Given the description of an element on the screen output the (x, y) to click on. 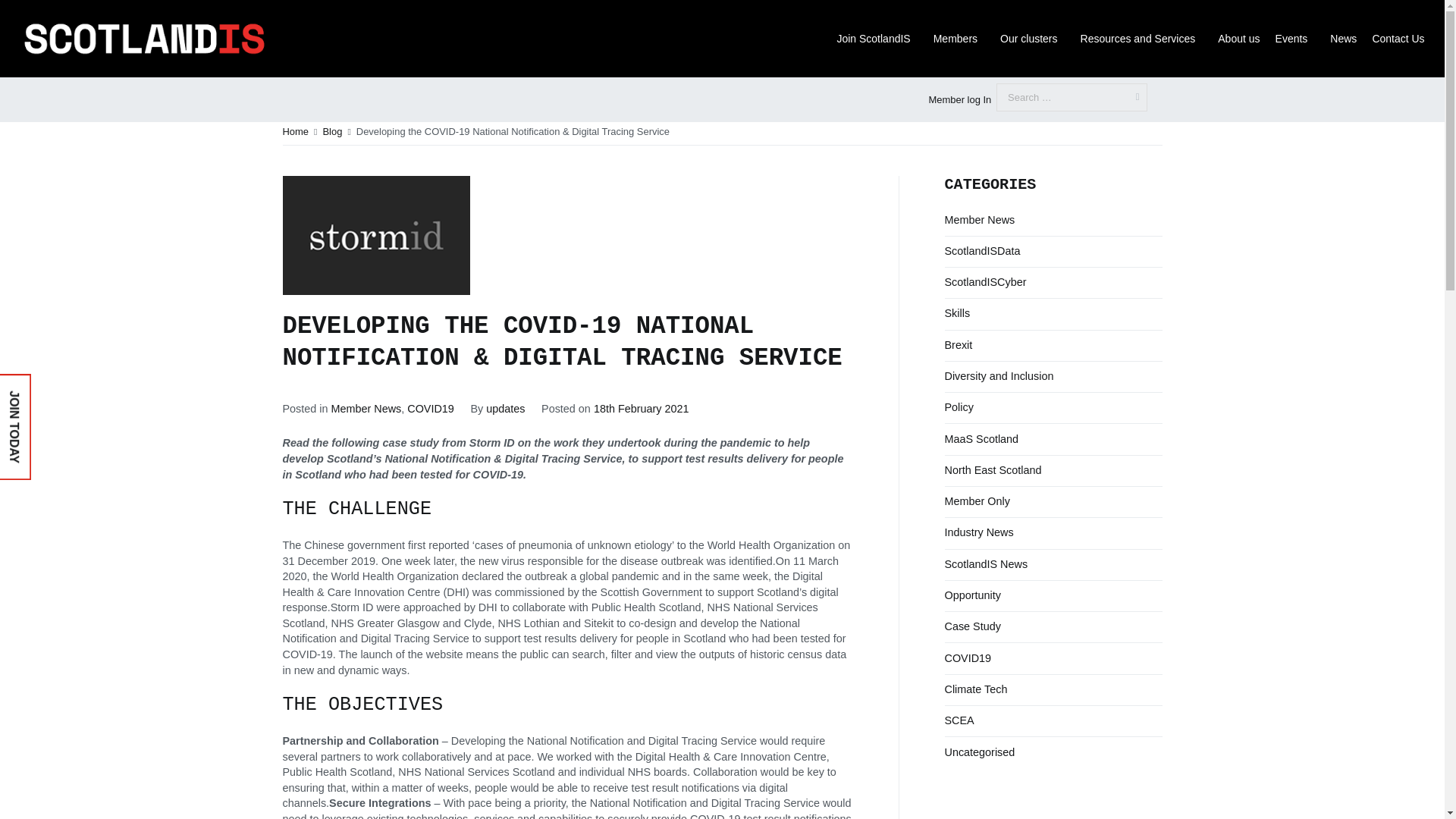
Resources and Services (1142, 38)
Search (26, 13)
Member log In (959, 99)
About us (1237, 38)
Our clusters (1031, 38)
Members (959, 38)
Events (1295, 38)
News (1343, 38)
Join ScotlandIS (876, 38)
Contact Us (1397, 38)
